Given the description of an element on the screen output the (x, y) to click on. 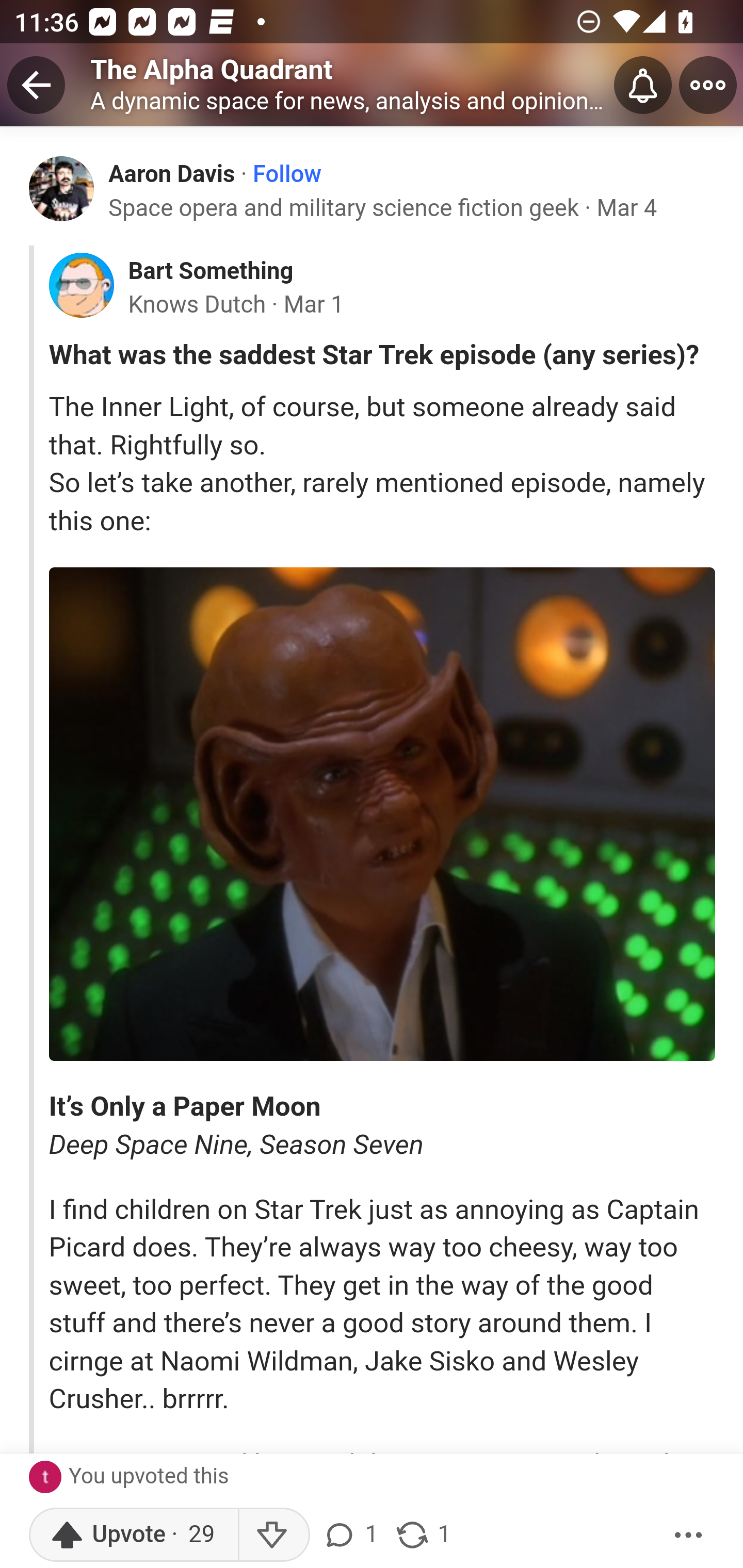
The Alpha Quadrant (211, 68)
Profile photo for Aaron Davis (61, 188)
Aaron Davis (172, 173)
Follow (287, 174)
Profile photo for Bart Something (80, 285)
Bart Something (210, 271)
main-qimg-0a9453f55125d56c38dfed03be596402 (381, 814)
Upvote (133, 1534)
Downvote (273, 1534)
1 comment (353, 1534)
1 share (421, 1534)
More (688, 1534)
